Given the description of an element on the screen output the (x, y) to click on. 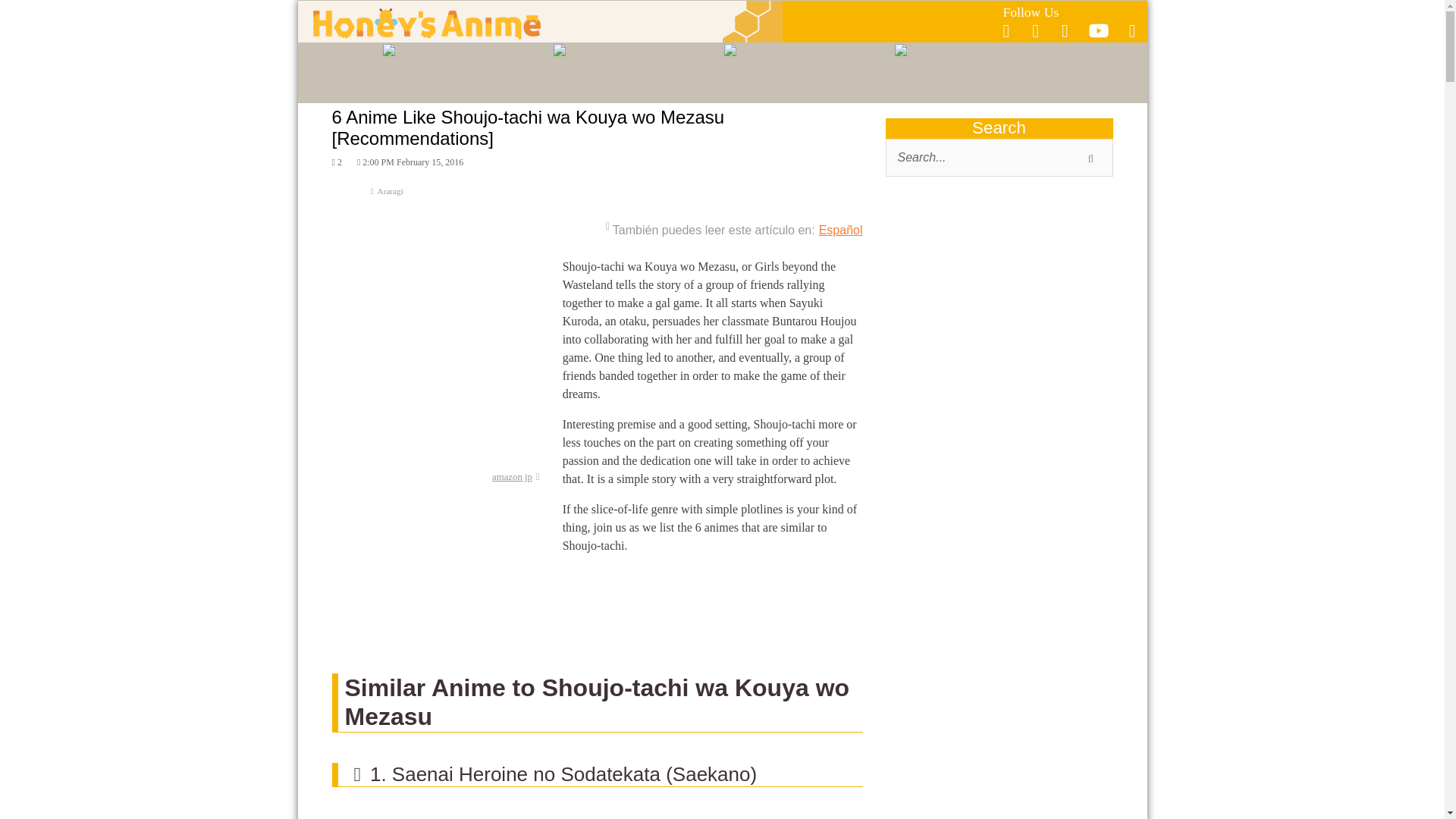
Araragi (597, 197)
Our Spotify (1064, 30)
Our Youtube (1098, 35)
Search... (999, 157)
banner-honeyfeed-malcontest (999, 785)
Our RSS (1132, 30)
Search... (999, 157)
amazon jp (516, 476)
2 (336, 162)
Our Instagram (1006, 30)
Our Twitter (1035, 30)
